Given the description of an element on the screen output the (x, y) to click on. 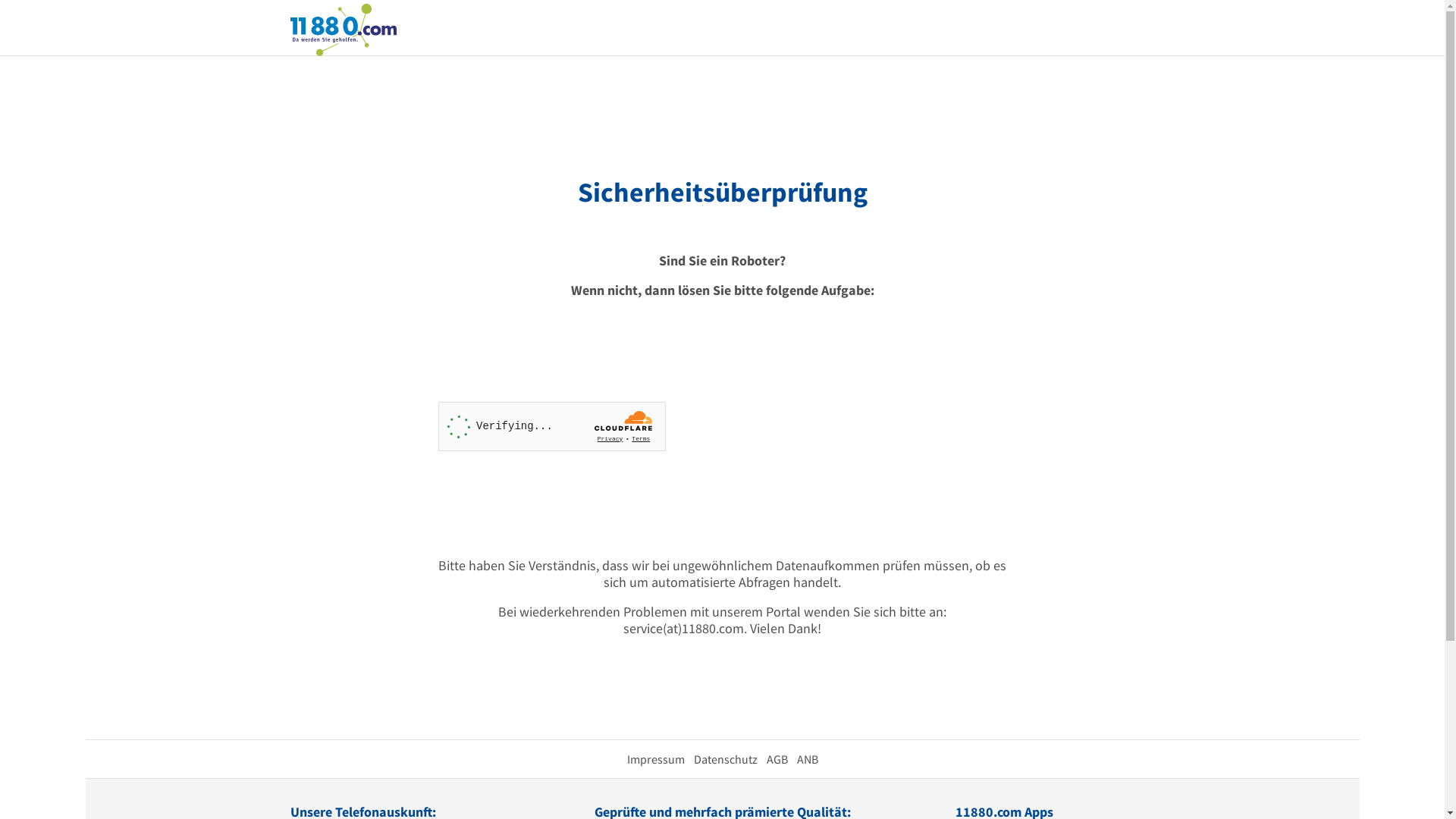
AGB Element type: text (776, 758)
Datenschutz Element type: text (724, 758)
ANB Element type: text (806, 758)
Impressum Element type: text (655, 758)
11880.com Element type: hover (342, 28)
Widget containing a Cloudflare security challenge Element type: hover (551, 426)
